Given the description of an element on the screen output the (x, y) to click on. 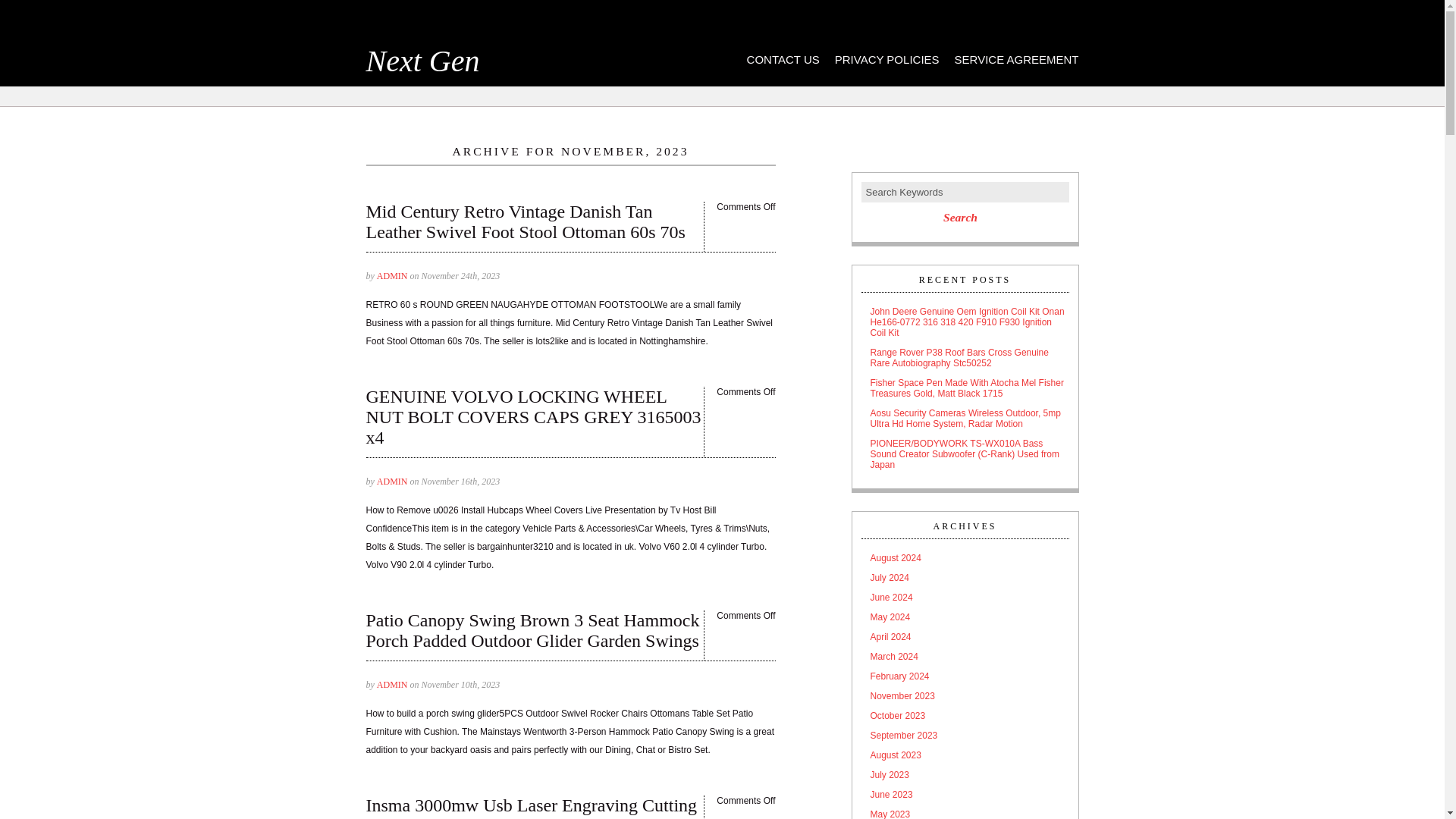
Search (960, 217)
ADMIN (392, 276)
April 2024 (964, 636)
June 2023 (964, 794)
CONTACT US (782, 57)
August 2024 (964, 557)
August 2023 (964, 755)
PRIVACY POLICIES (886, 57)
May 2024 (964, 616)
